Given the description of an element on the screen output the (x, y) to click on. 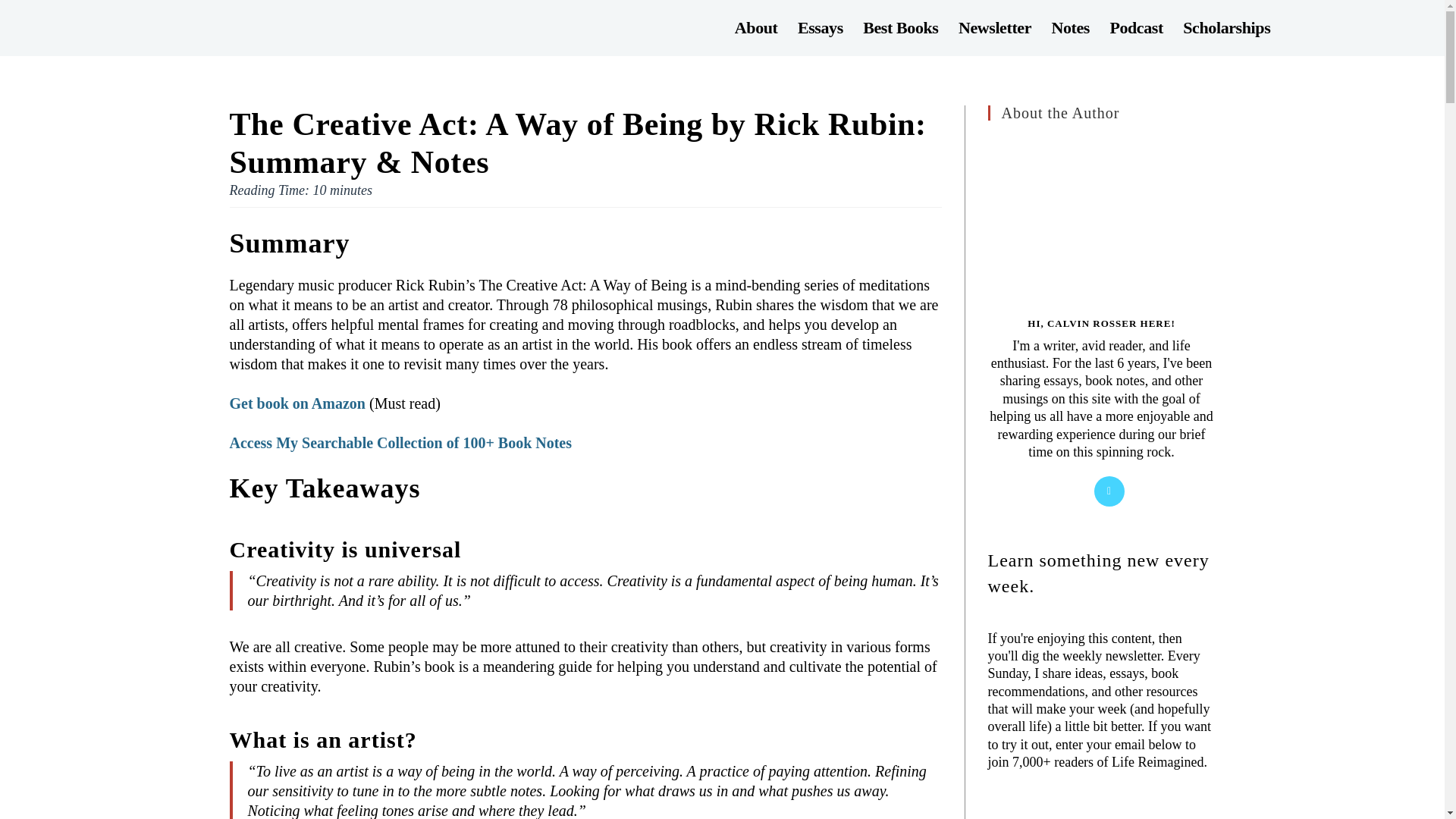
newsletter (1100, 810)
